Given the description of an element on the screen output the (x, y) to click on. 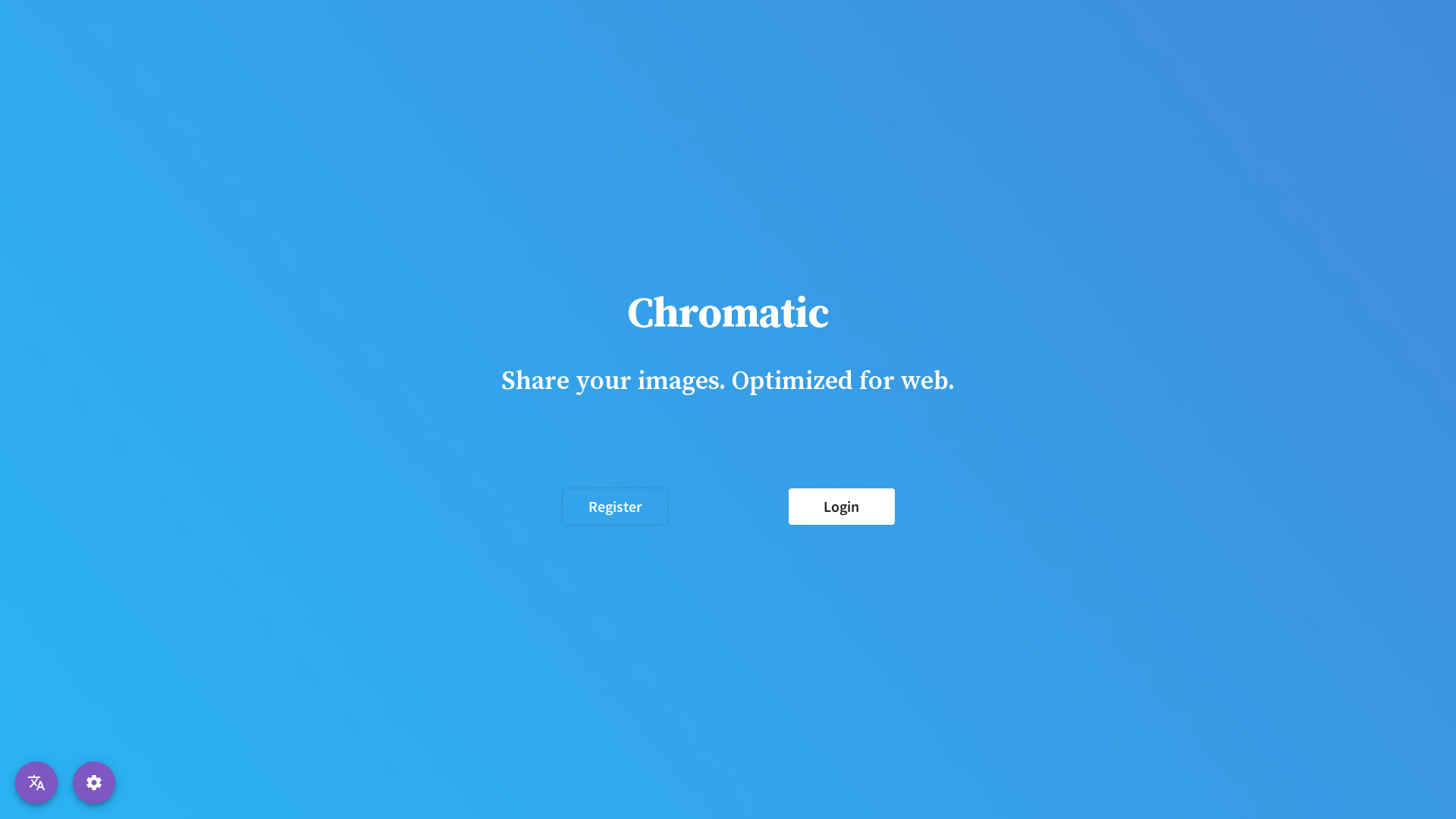
Register Element type: text (614, 506)
Login Element type: text (841, 506)
translate Element type: text (36, 782)
settings Element type: text (93, 782)
